Given the description of an element on the screen output the (x, y) to click on. 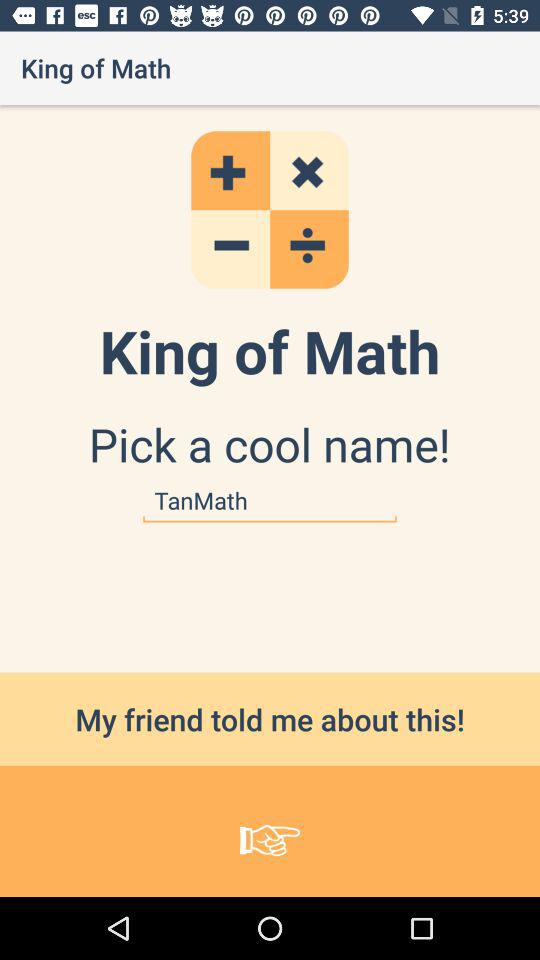
choose icon below my friend told item (270, 830)
